Given the description of an element on the screen output the (x, y) to click on. 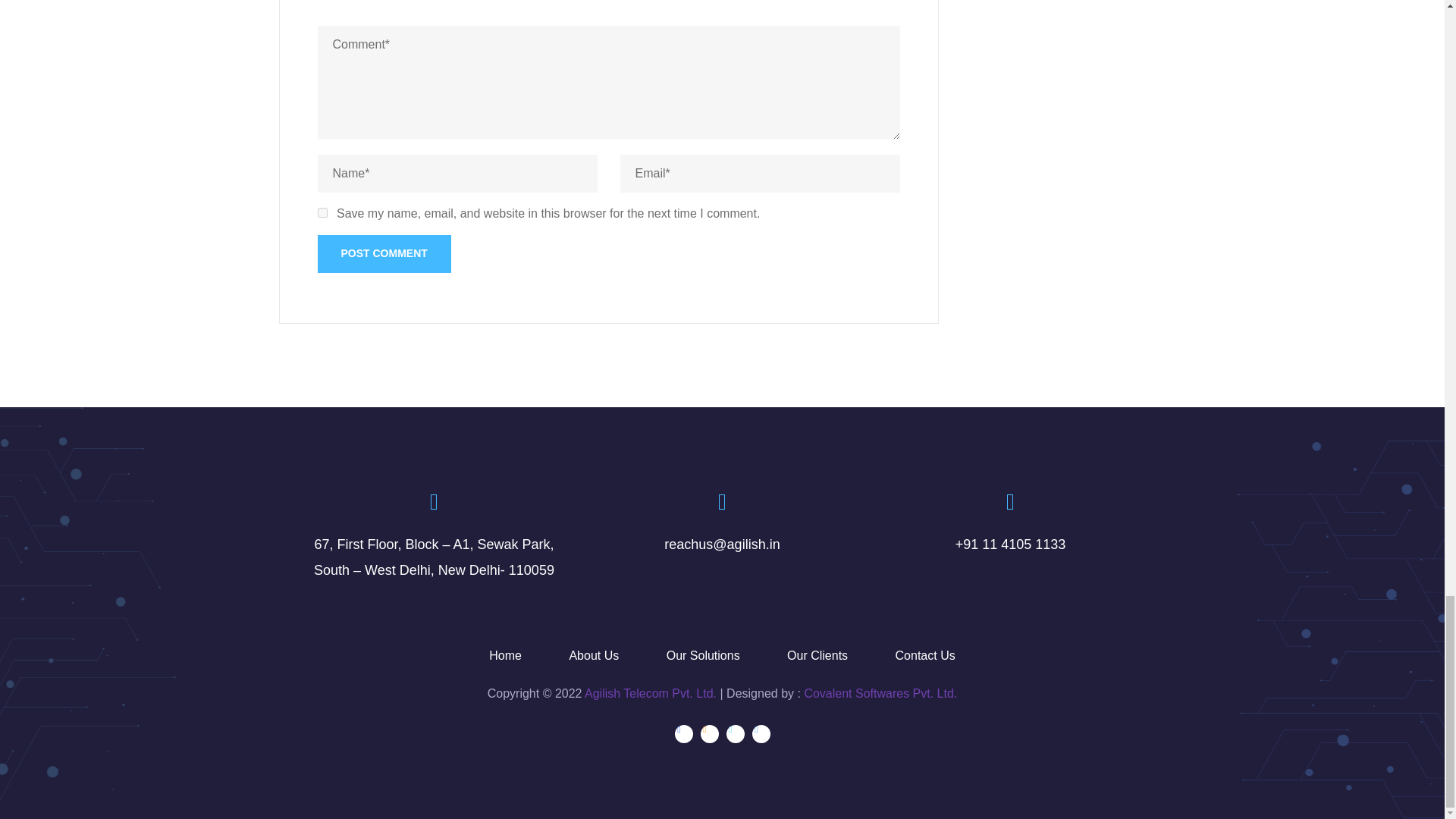
yes (321, 212)
Post Comment (383, 253)
